Given the description of an element on the screen output the (x, y) to click on. 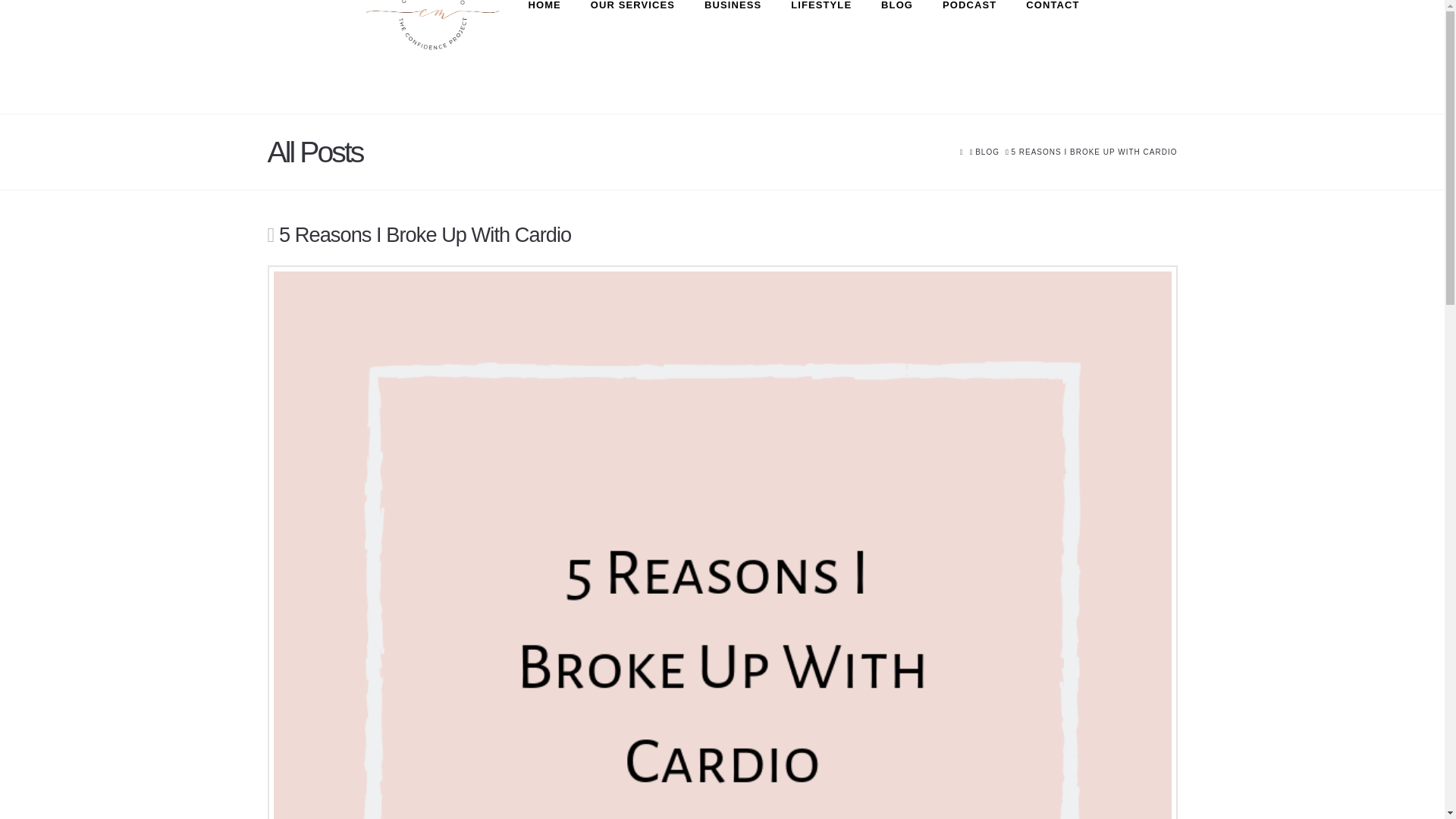
BLOG (986, 152)
You Are Here (1093, 152)
OUR SERVICES (631, 56)
5 REASONS I BROKE UP WITH CARDIO (1093, 152)
